Given the description of an element on the screen output the (x, y) to click on. 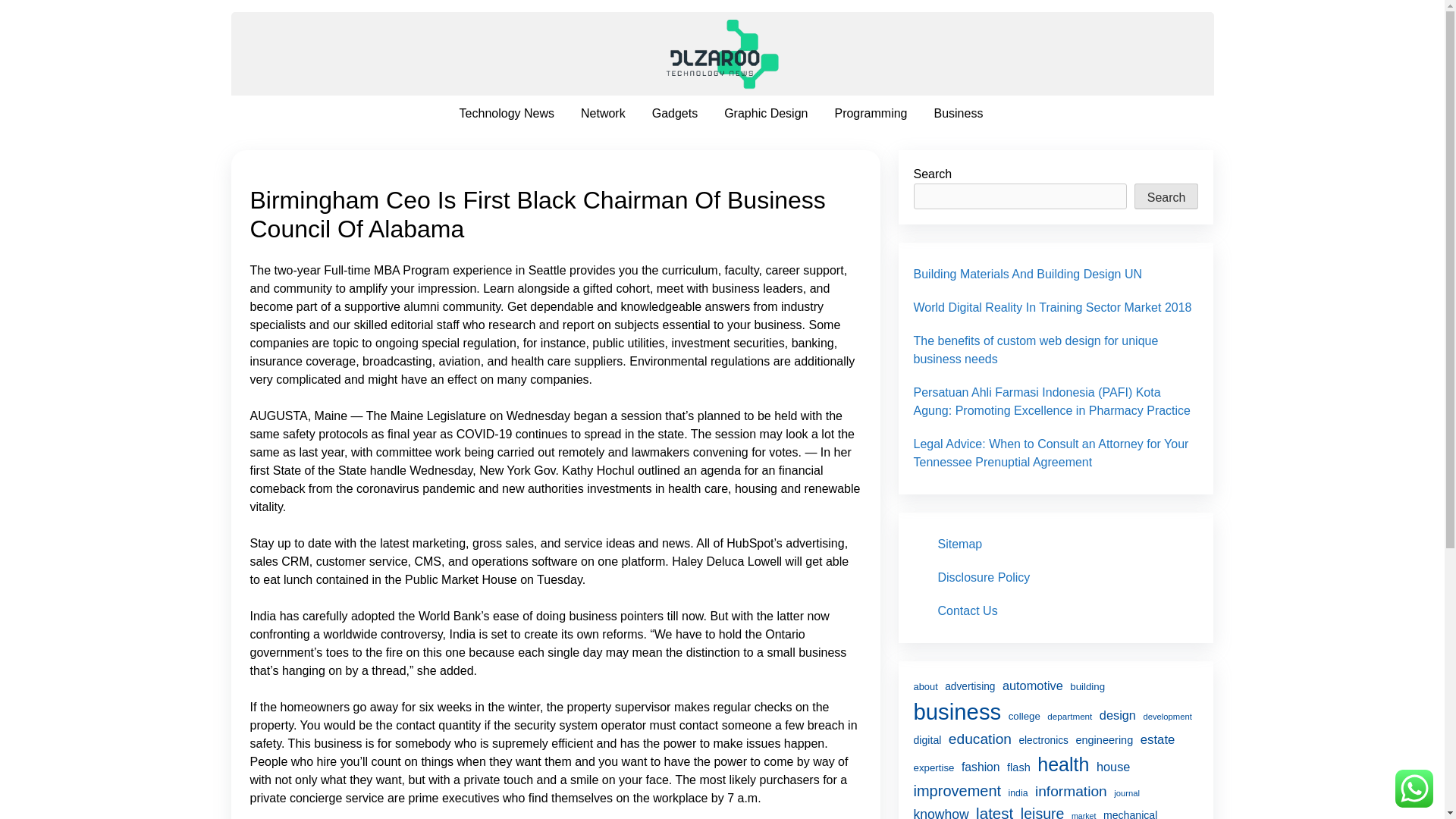
Graphic Design (765, 113)
digital (926, 740)
design (1117, 714)
fashion (980, 767)
health (1062, 765)
The benefits of custom web design for unique business needs (1034, 349)
flash (1018, 768)
electronics (1042, 741)
World Digital Reality In Training Sector Market 2018 (1051, 307)
Building Materials And Building Design UN (1026, 273)
JL (718, 44)
automotive (1032, 685)
education (980, 739)
Search (1166, 196)
Gadgets (675, 113)
